Given the description of an element on the screen output the (x, y) to click on. 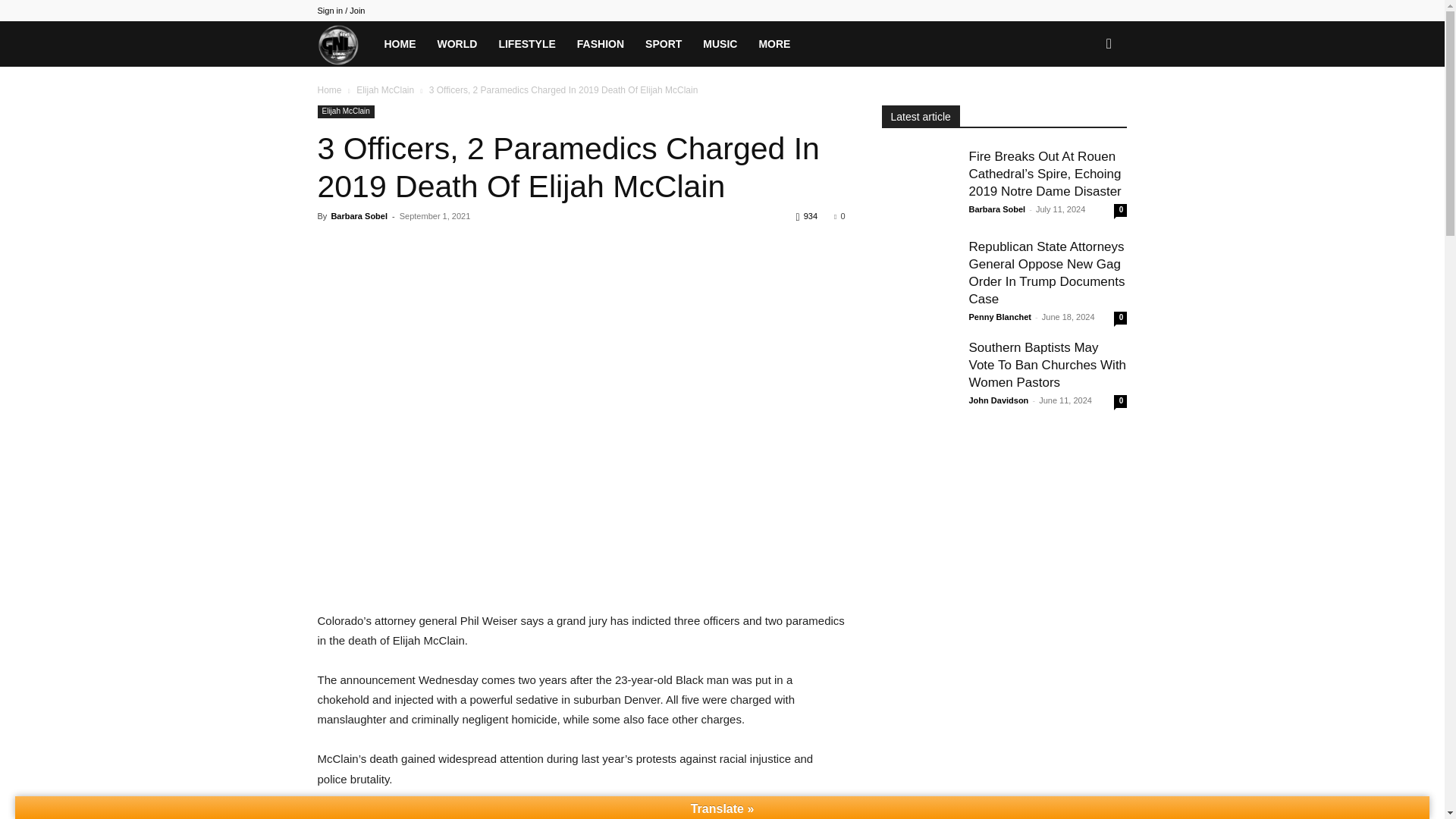
Global News Ink (344, 43)
LIFESTYLE (526, 43)
HOME (399, 43)
WORLD (456, 43)
